Given the description of an element on the screen output the (x, y) to click on. 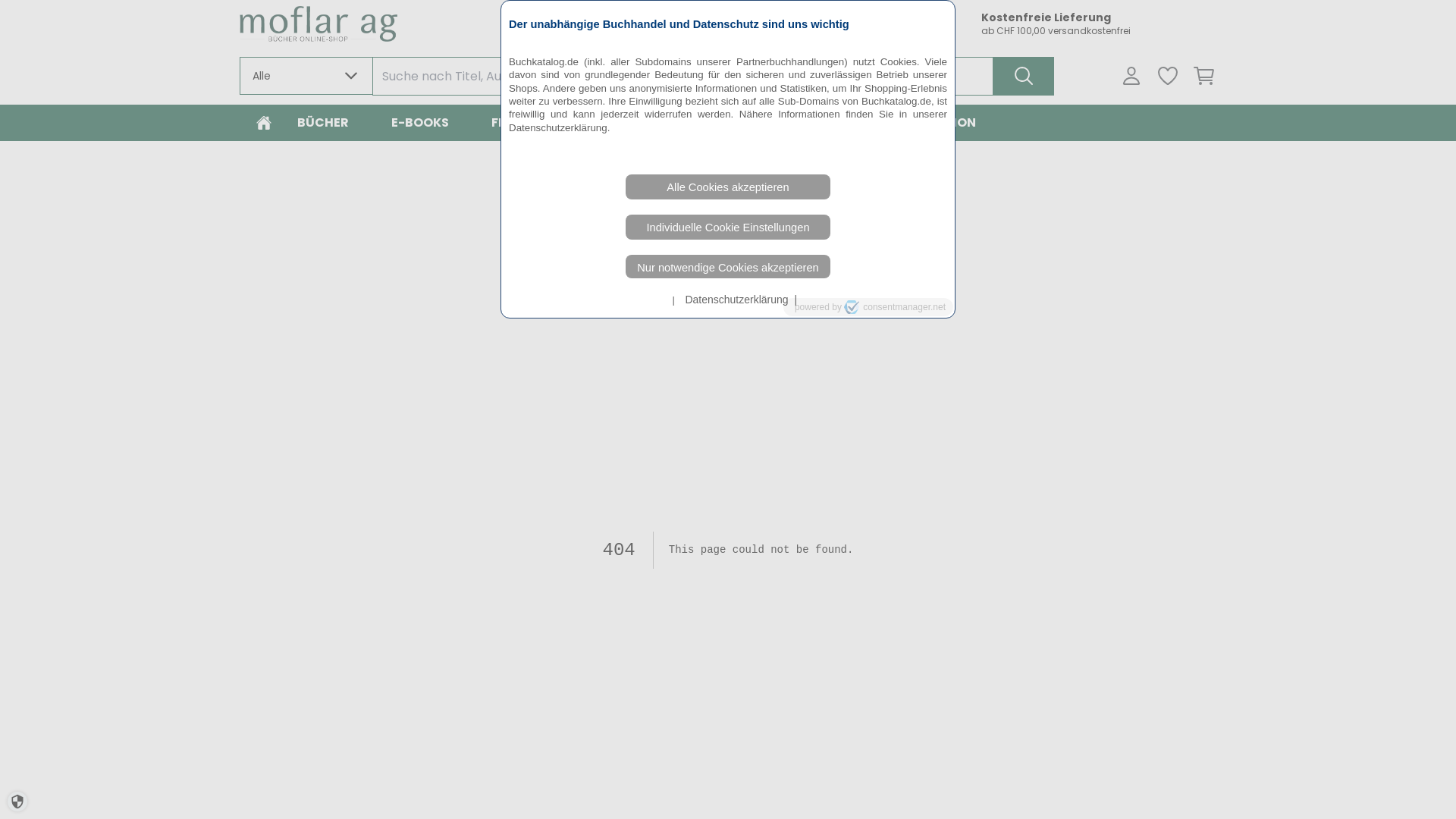
E-BOOKS Element type: text (420, 122)
ab CHF 100,00 versandkostenfrei Element type: text (1098, 31)
consentmanager.net Element type: text (894, 306)
Datenschutz-Einstellungen Element type: hover (17, 801)
TECHNIK Element type: text (768, 122)
Alle Cookies akzeptieren Element type: text (727, 186)
FILM Element type: text (505, 122)
Nur notwendige Cookies akzeptieren Element type: text (727, 266)
SCHWEIZ UND REGION Element type: text (907, 122)
Individuelle Cookie Einstellungen Element type: text (727, 226)
WEITERE KATEGORIEN Element type: text (629, 122)
Kostenfreie Lieferung Element type: text (1098, 17)
  Element type: text (660, 299)
